Given the description of an element on the screen output the (x, y) to click on. 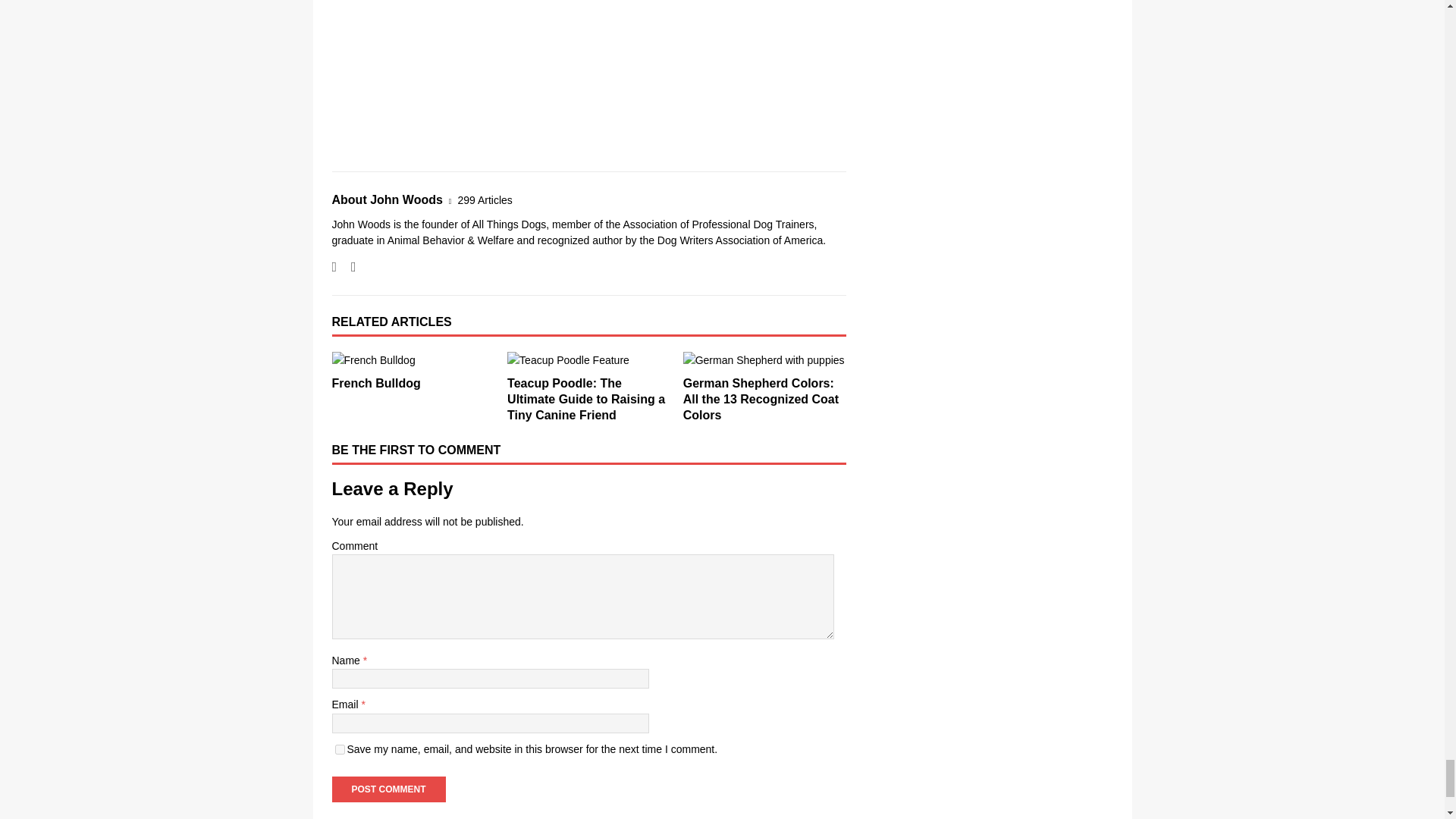
Post Comment (388, 789)
yes (339, 749)
French Bulldog (413, 360)
More articles written by John Woods' (485, 200)
French Bulldog (375, 382)
Follow John Woods on YouTube (347, 266)
